Given the description of an element on the screen output the (x, y) to click on. 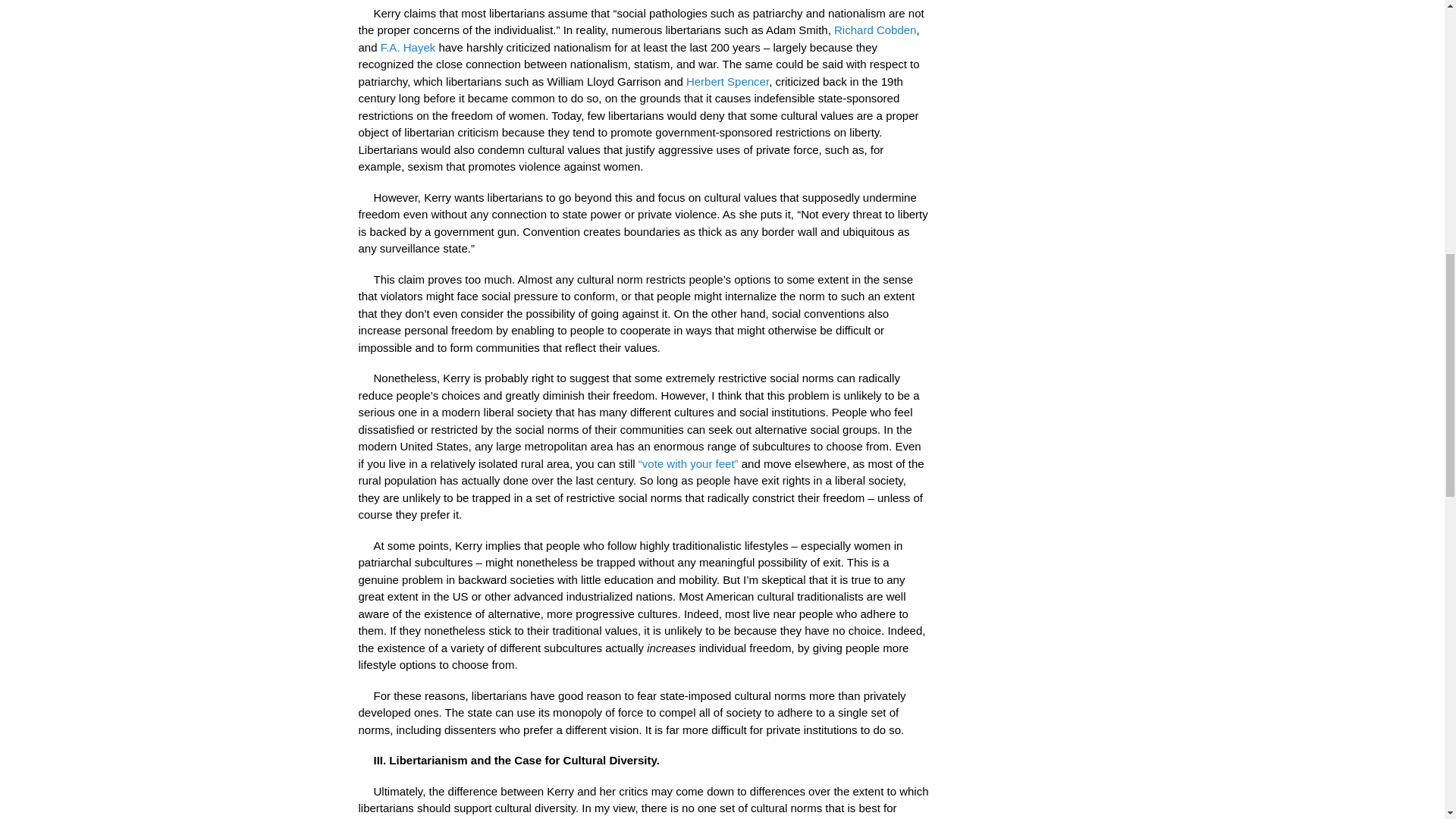
Herbert Spencer (726, 81)
Richard Cobden (874, 29)
F.A. Hayek (407, 47)
